Given the description of an element on the screen output the (x, y) to click on. 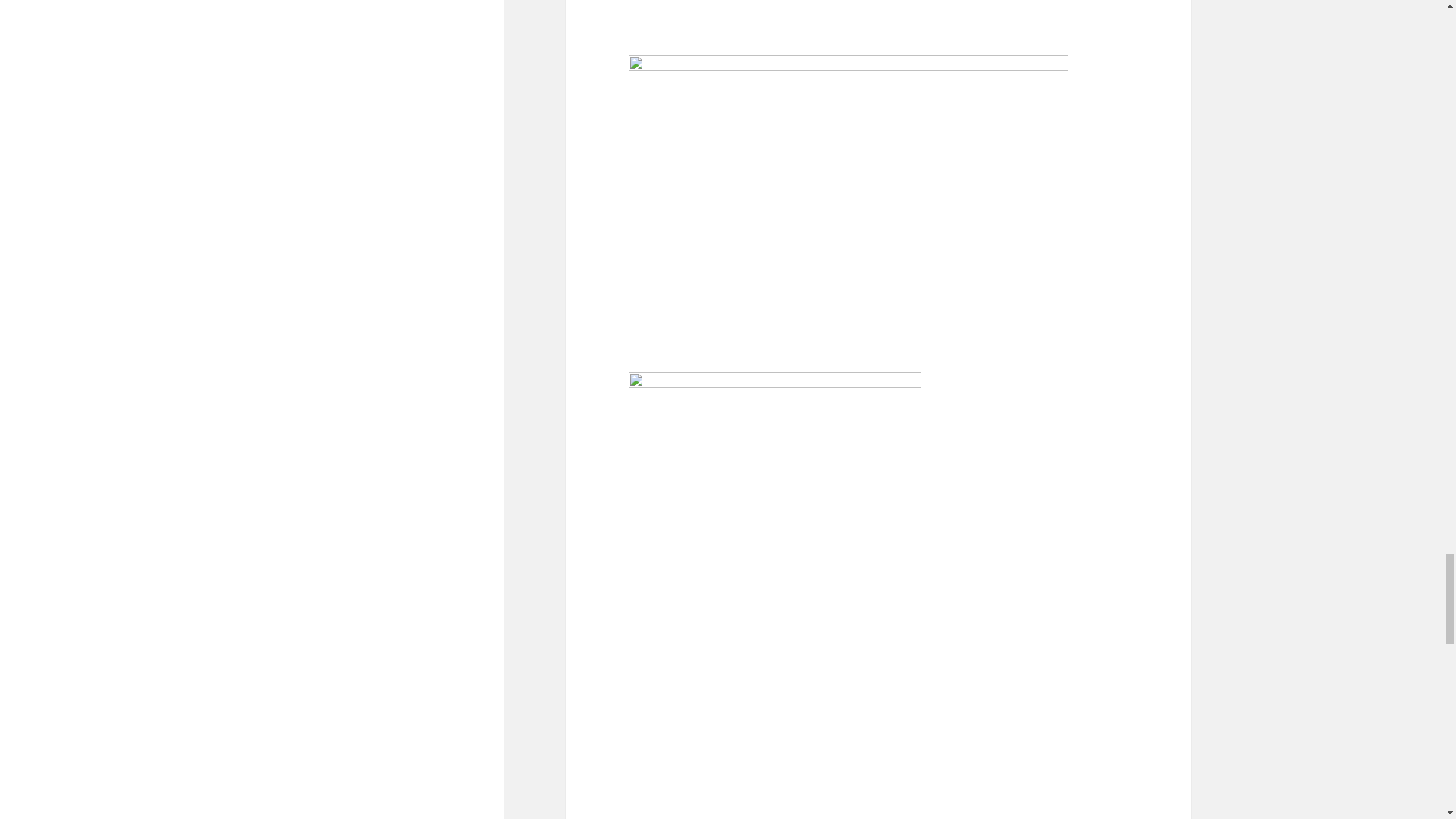
Fontaine des Innocents (793, 14)
